Given the description of an element on the screen output the (x, y) to click on. 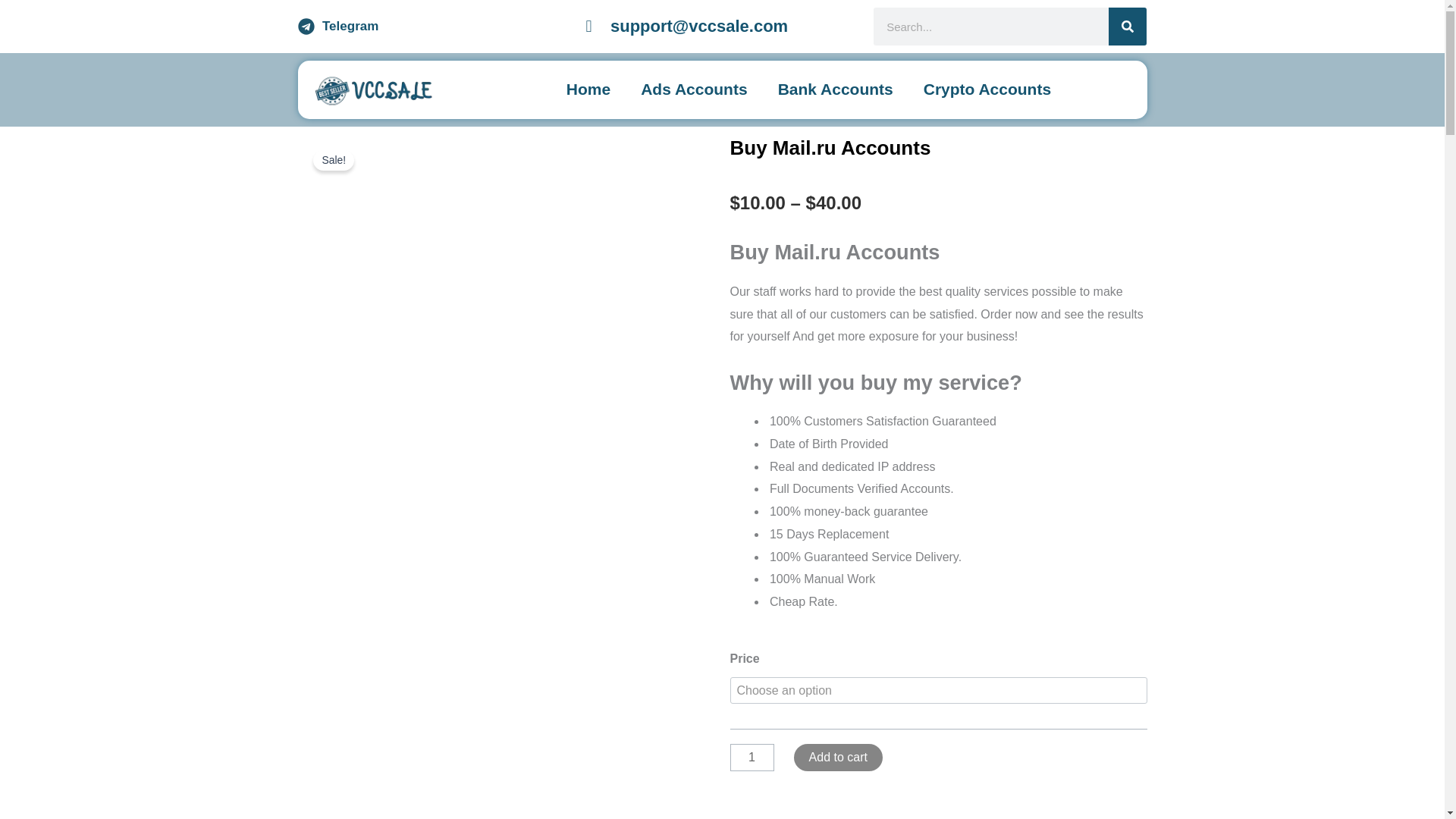
Ads Accounts (693, 89)
Bank Accounts (835, 89)
Home (588, 89)
Search (1127, 26)
Crypto Accounts (986, 89)
1 (751, 757)
Add to cart (837, 757)
